Given the description of an element on the screen output the (x, y) to click on. 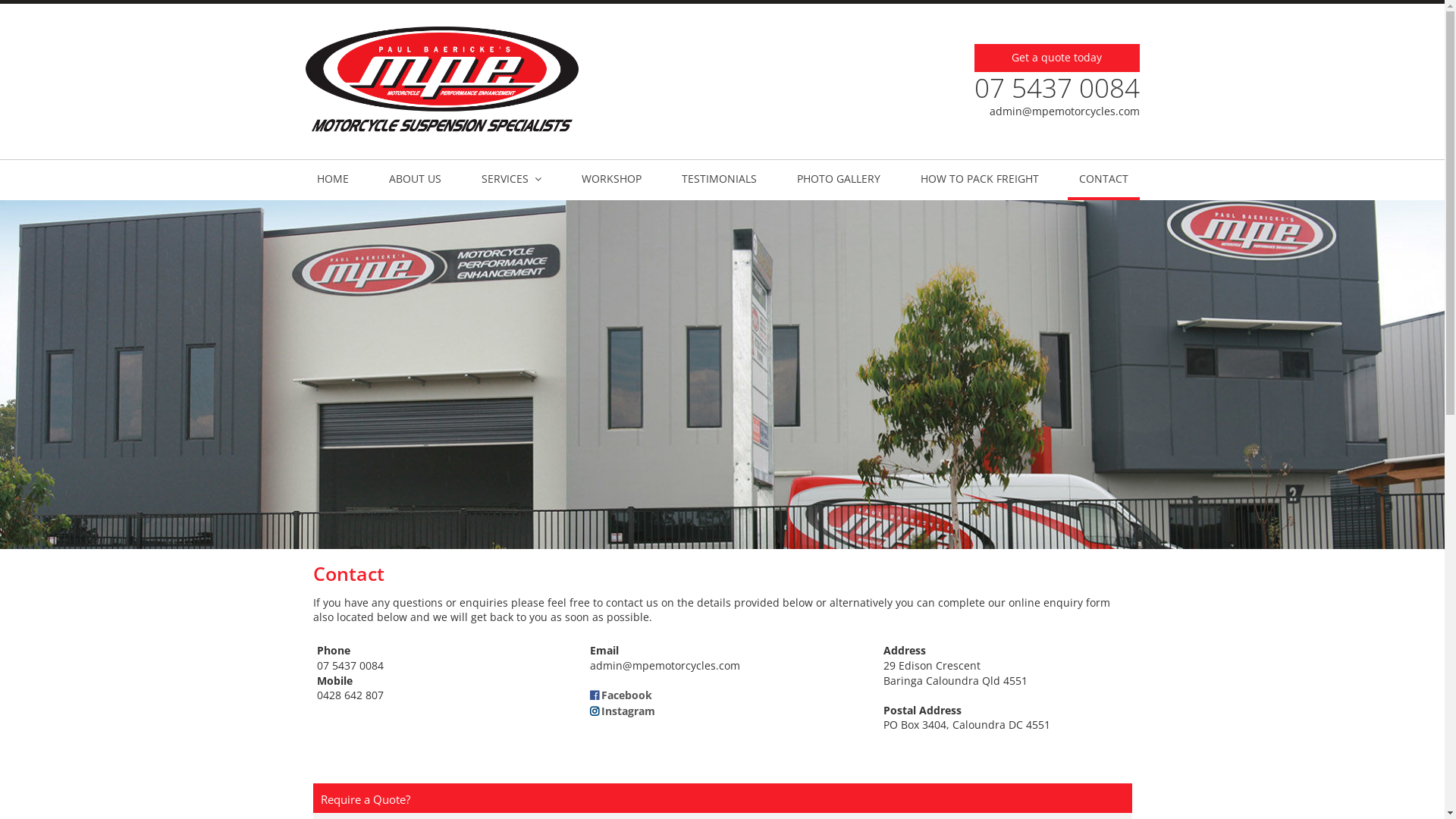
HOW TO PACK FREIGHT Element type: text (978, 180)
CONTACT Element type: text (1103, 180)
TESTIMONIALS Element type: text (719, 180)
Facebook Element type: text (620, 694)
admin@mpemotorcycles.com Element type: text (1063, 110)
PHOTO GALLERY Element type: text (838, 180)
ABOUT US Element type: text (414, 180)
HOME Element type: text (331, 180)
Get a quote today Element type: text (1056, 57)
Instagram Element type: text (622, 710)
WORKSHOP Element type: text (611, 180)
SERVICES Element type: text (511, 180)
